Given the description of an element on the screen output the (x, y) to click on. 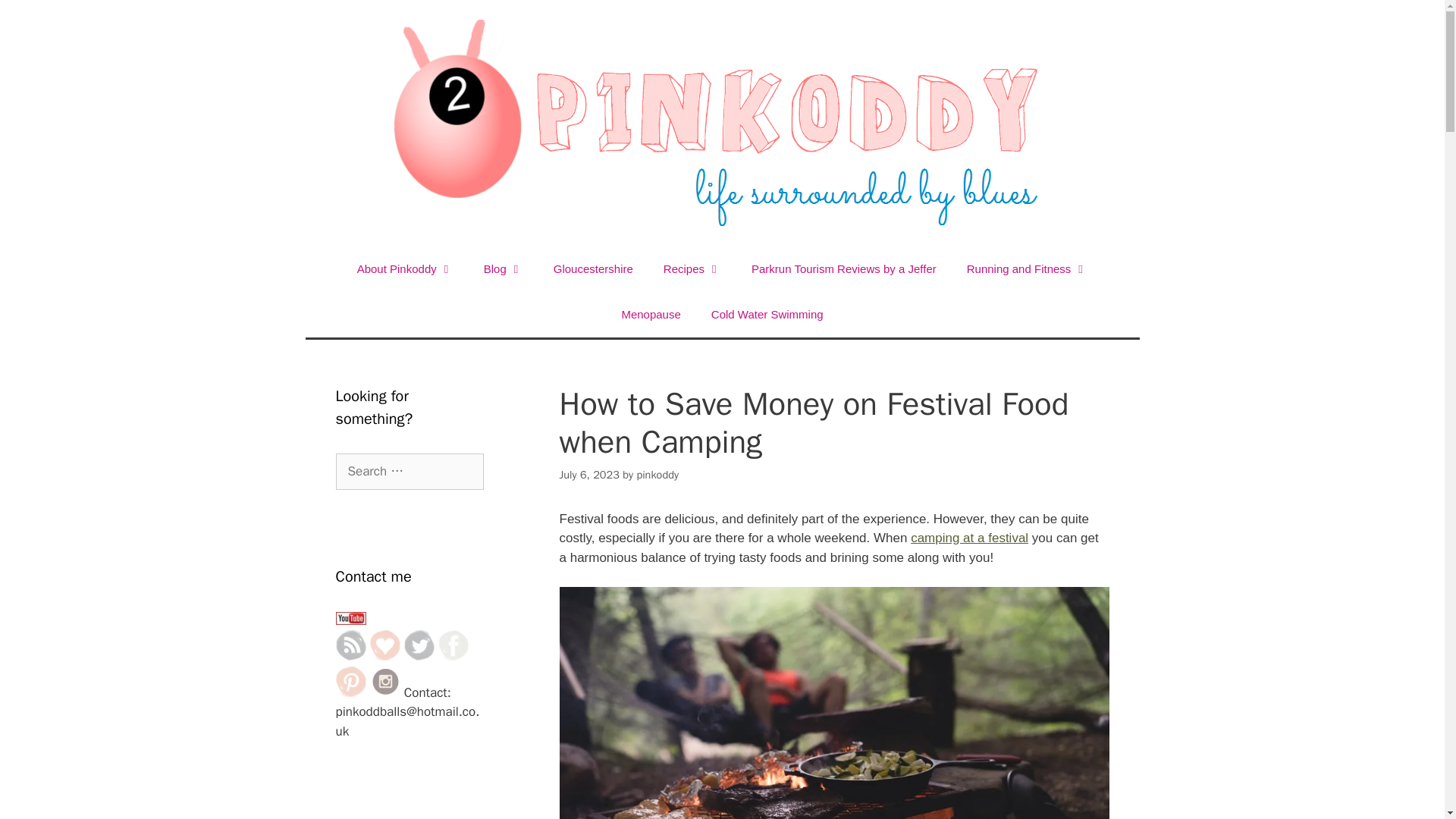
camping at a festival (969, 537)
Menopause (650, 314)
Search for: (408, 471)
Blog (503, 268)
Gloucestershire (592, 268)
Running and Fitness (1027, 268)
pinkoddy (657, 474)
View all posts by pinkoddy (657, 474)
Cold Water Swimming (766, 314)
Recipes (691, 268)
About Pinkoddy (405, 268)
Parkrun Tourism Reviews by a Jeffer (844, 268)
